Given the description of an element on the screen output the (x, y) to click on. 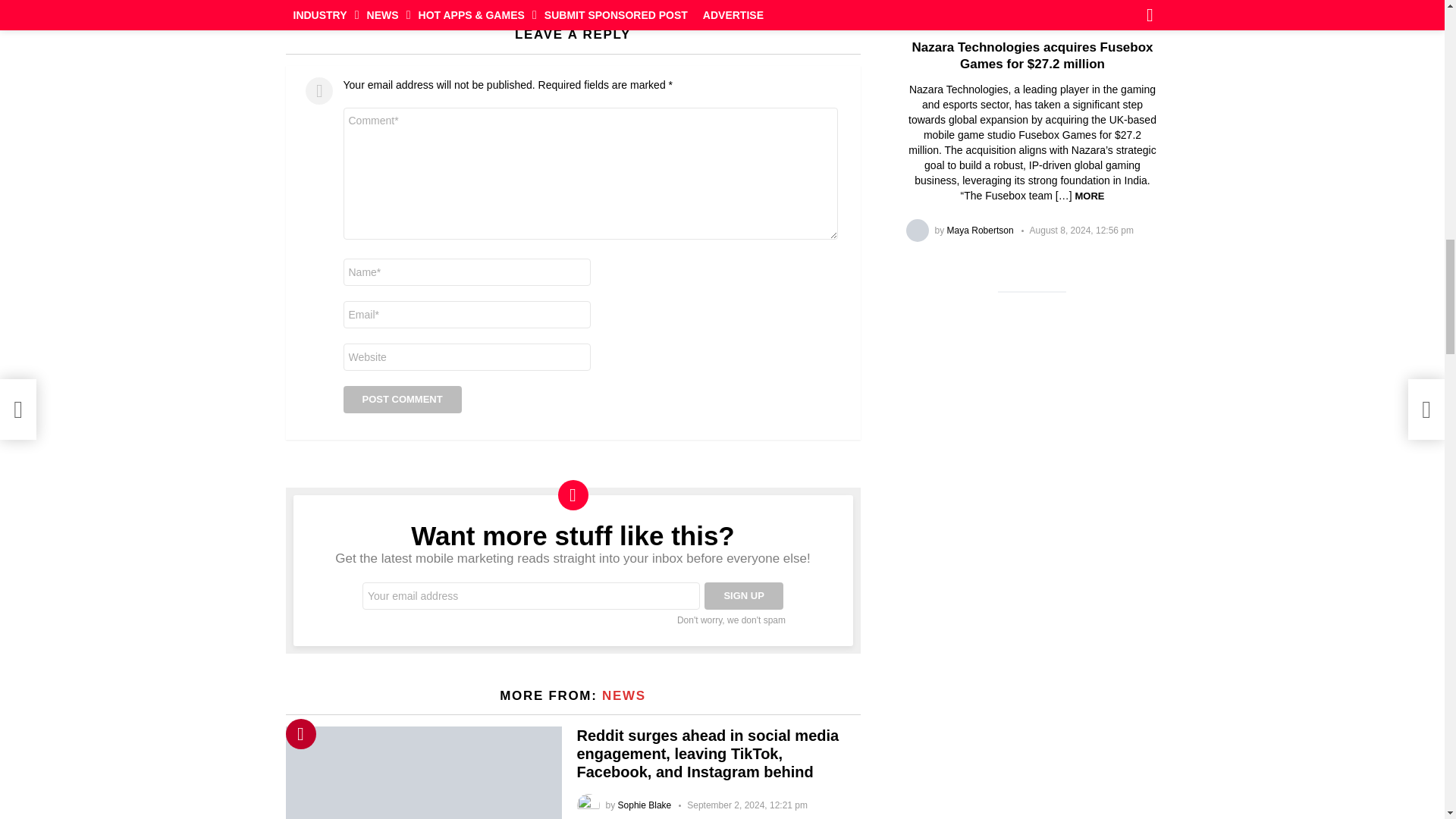
Sign up (743, 595)
Post Comment (401, 399)
Trending (300, 734)
Posts by Sophie Blake (644, 805)
